Given the description of an element on the screen output the (x, y) to click on. 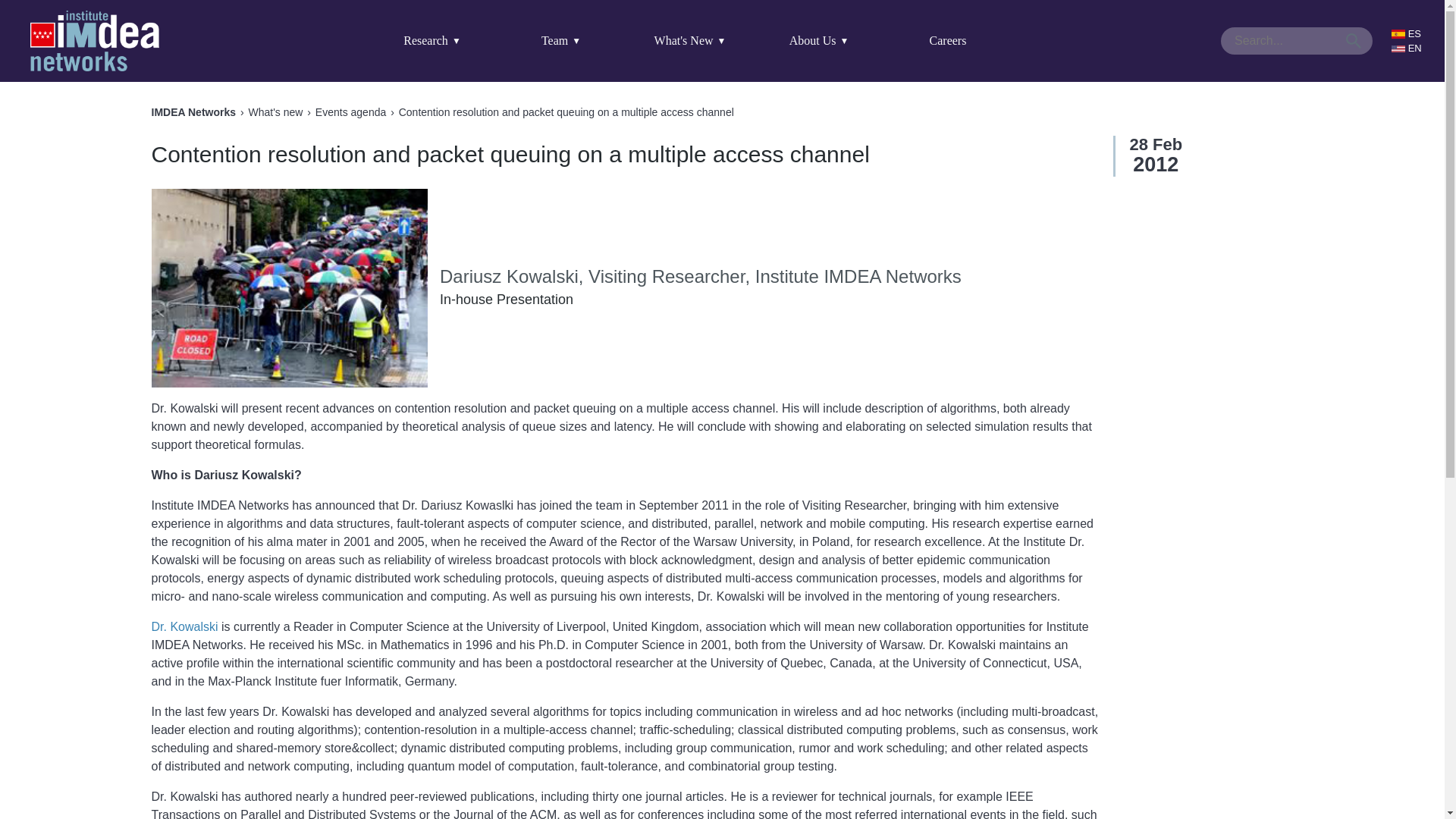
ES (1410, 32)
EN (1410, 48)
English (1410, 48)
IMDEA Networks (94, 40)
Careers (947, 41)
